Given the description of an element on the screen output the (x, y) to click on. 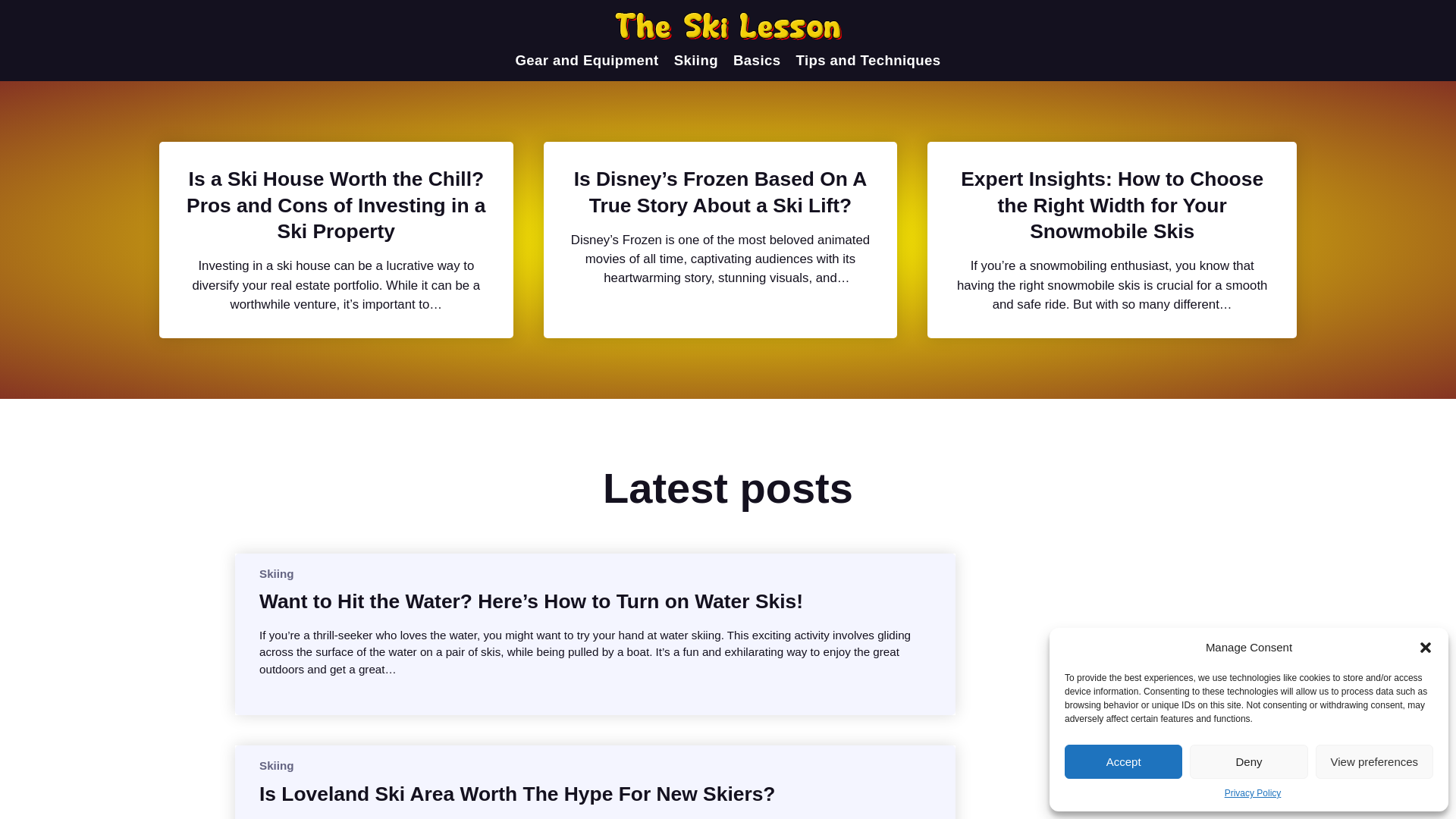
View preferences (1374, 761)
Skiing (276, 765)
Deny (1248, 761)
Privacy Policy (1252, 793)
Accept (1123, 761)
Is Loveland Ski Area Worth The Hype For New Skiers? (516, 793)
Skiing (276, 573)
Basics (756, 60)
Gear and Equipment (586, 60)
Tips and Techniques (867, 60)
Skiing (695, 60)
